Given the description of an element on the screen output the (x, y) to click on. 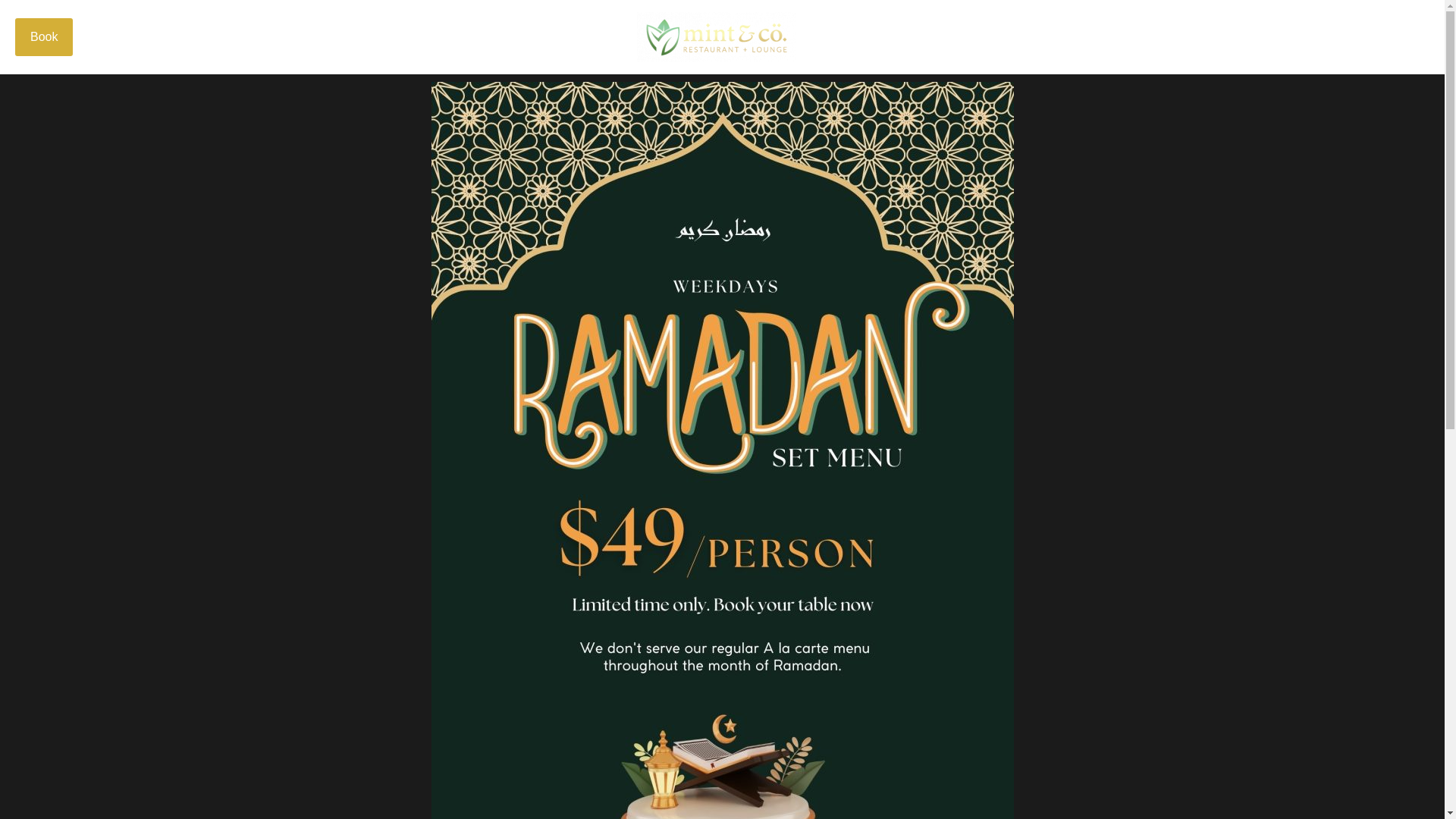
Book (43, 37)
Contact (1341, 36)
Menu (1401, 36)
